Given the description of an element on the screen output the (x, y) to click on. 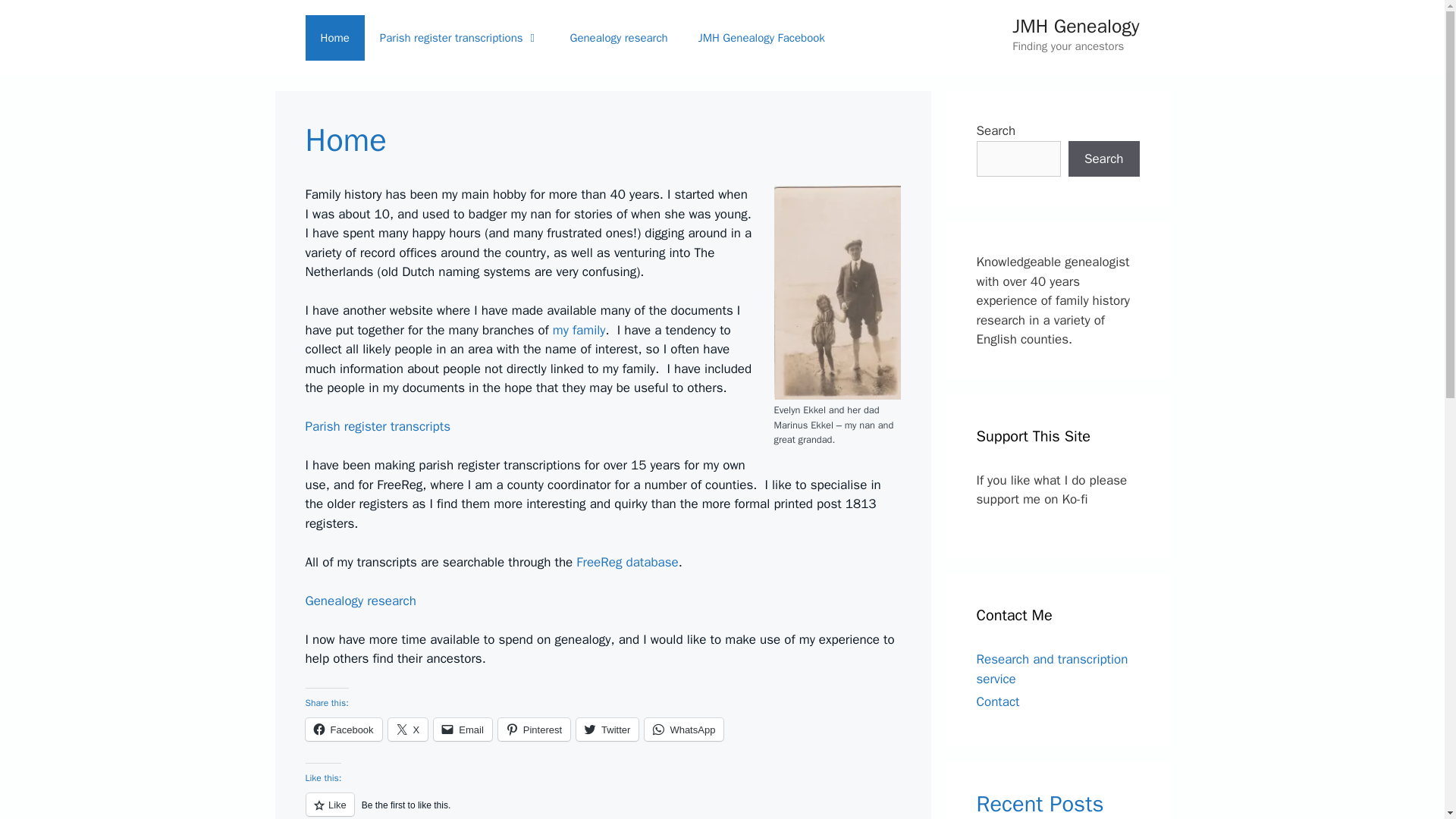
Click to share on Facebook (342, 729)
Parish register transcriptions (459, 37)
Home (334, 37)
Click to share on Pinterest (533, 729)
Click to share on WhatsApp (684, 729)
Click to share on Twitter (607, 729)
Click to share on X (408, 729)
Click to email a link to a friend (462, 729)
Like or Reblog (601, 805)
JMH Genealogy (1074, 25)
